Given the description of an element on the screen output the (x, y) to click on. 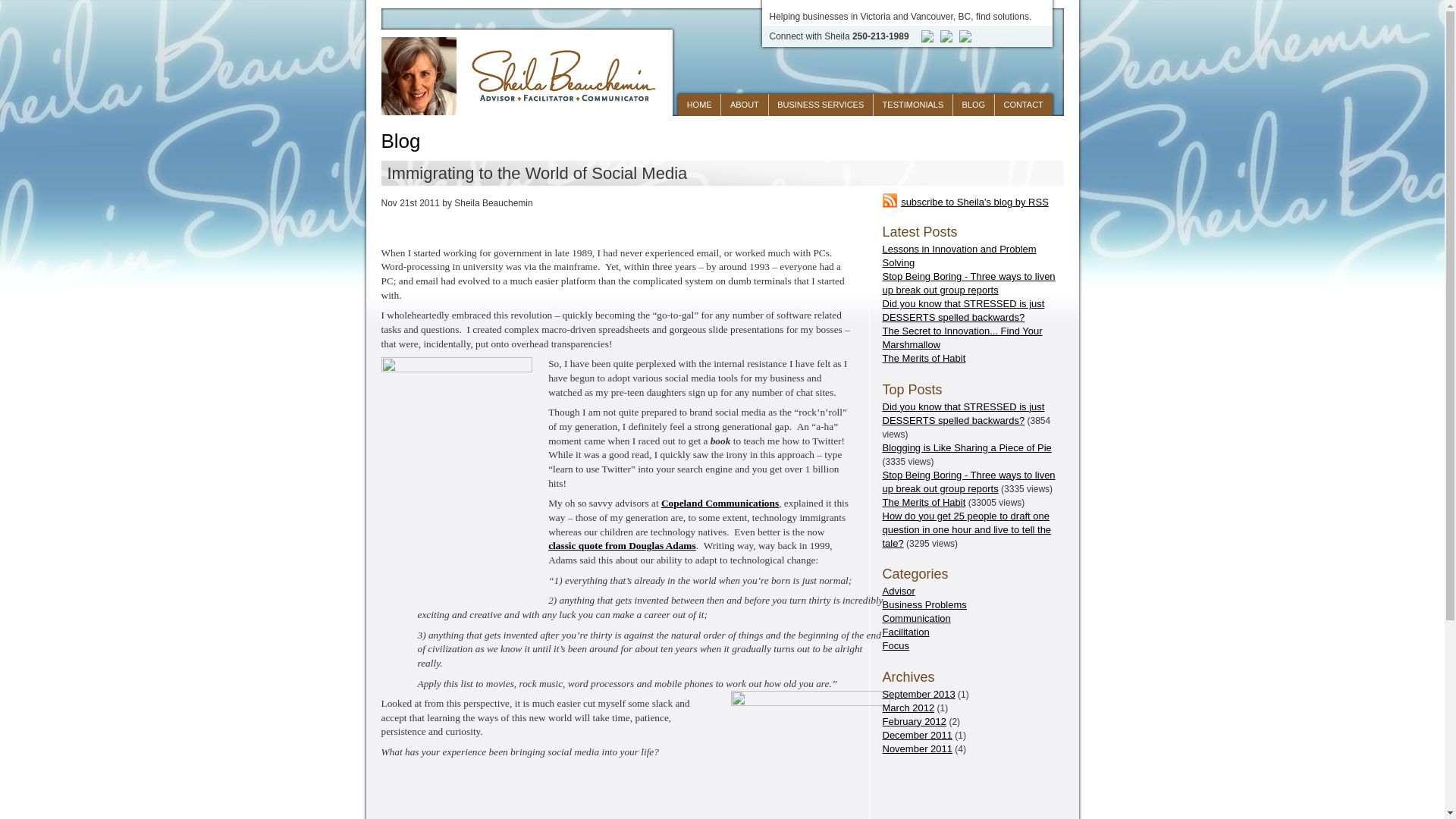
CONTACT (1023, 105)
Advisor (898, 591)
Skip to secondary content (745, 105)
Focus (895, 645)
TESTIMONIALS (912, 105)
Look Lessons in Innovation and Problem Solving (959, 255)
Advisor (898, 591)
Lessons in Innovation and Problem Solving (959, 255)
